Given the description of an element on the screen output the (x, y) to click on. 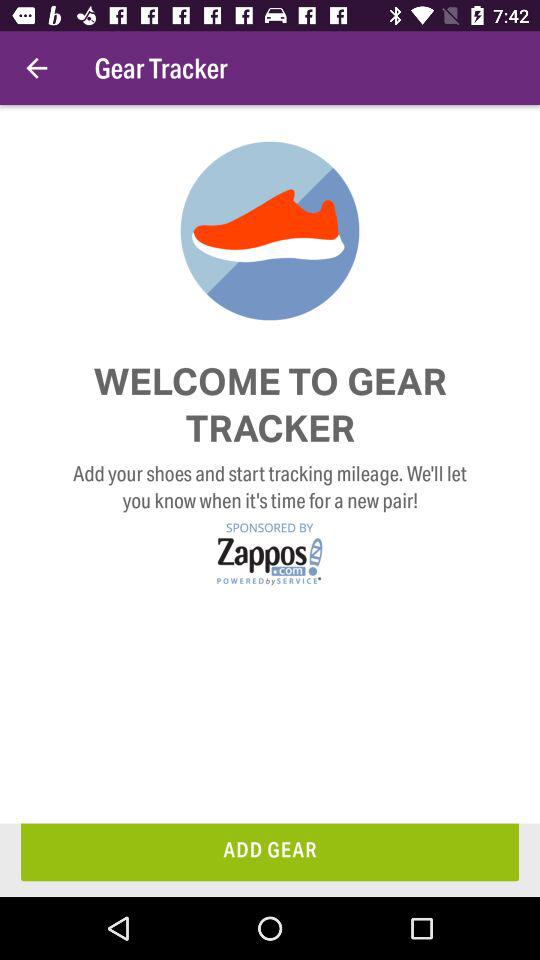
flip until the add gear item (270, 852)
